Given the description of an element on the screen output the (x, y) to click on. 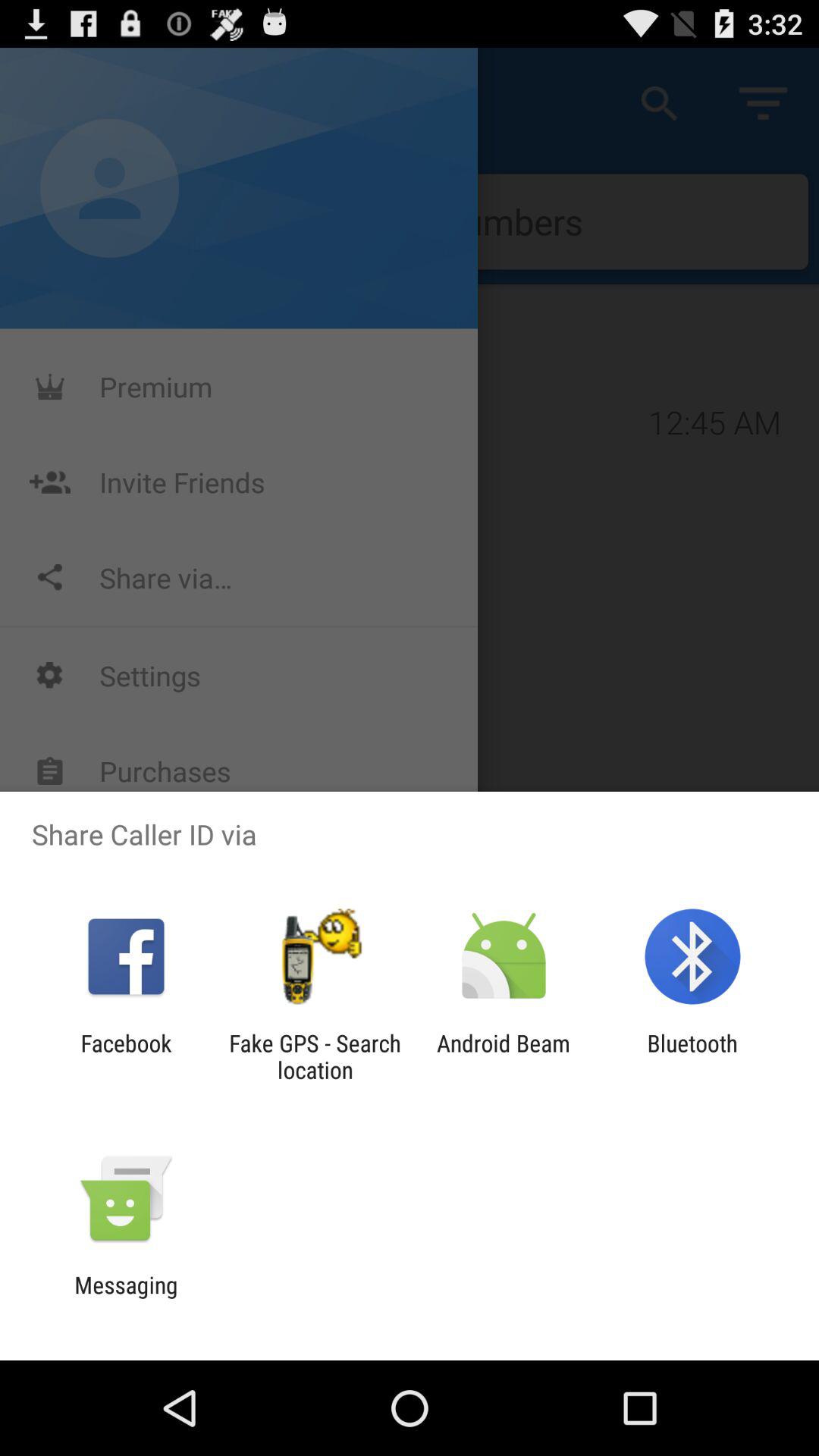
select icon next to bluetooth (503, 1056)
